Given the description of an element on the screen output the (x, y) to click on. 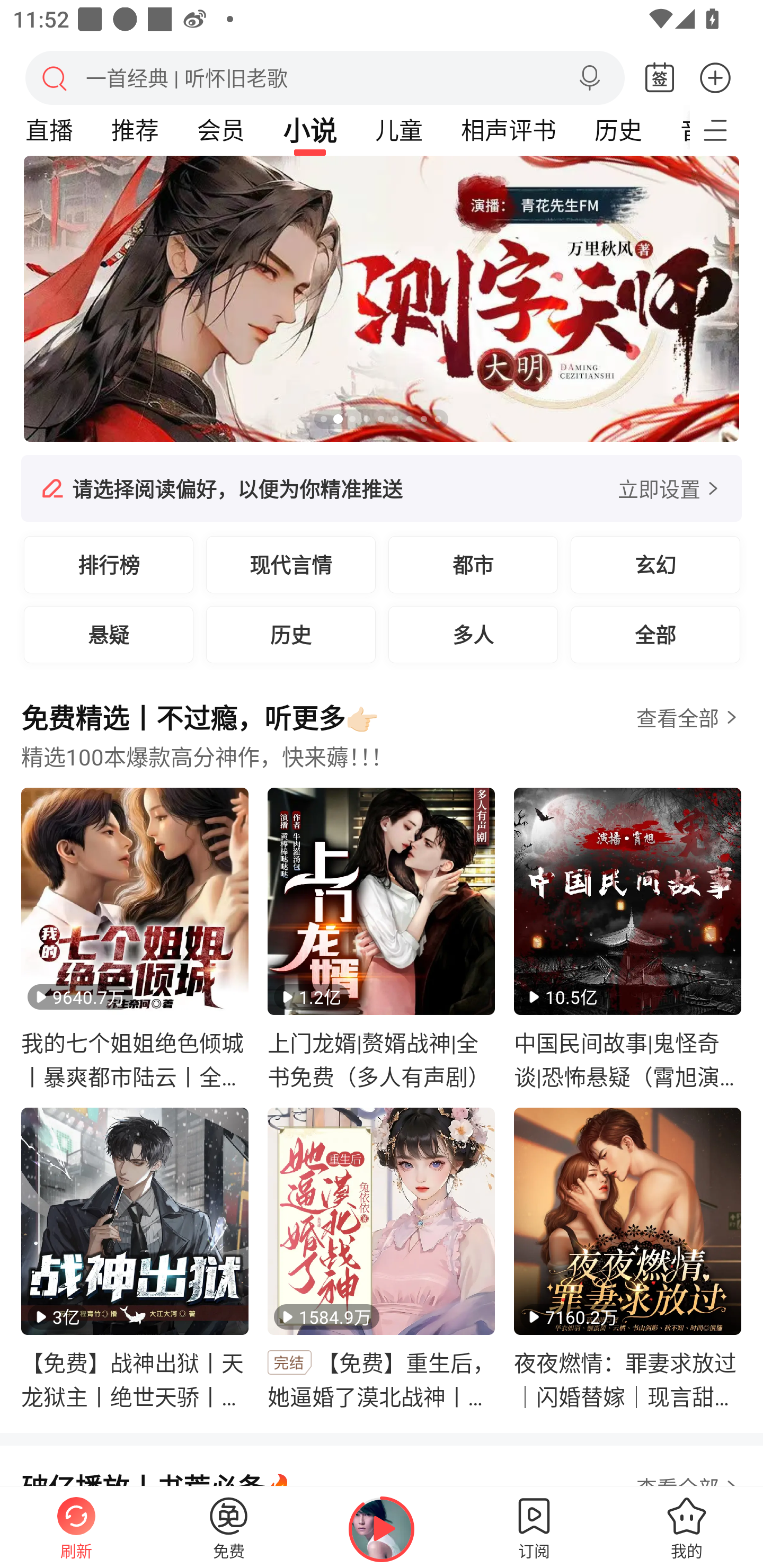
搜索 一首经典 | 听怀旧老歌 语音搜索 (324, 77)
更多 (714, 77)
签到 (659, 78)
语音搜索 (589, 78)
直播 (49, 130)
推荐 (134, 130)
会员 (220, 130)
小说 (309, 130)
儿童 (398, 130)
相声评书 (508, 130)
历史 (618, 130)
更多频道 (726, 130)
焦点图 (381, 298)
请选择阅读偏好，以便为你精准推送 立即设置 (381, 488)
排行榜 (108, 563)
现代言情 (290, 563)
都市 (473, 563)
玄幻 (655, 563)
悬疑 (108, 633)
历史 (290, 633)
多人 (473, 633)
全部 (655, 633)
免费精选丨不过瘾，听更多👉🏻 查看全部 精选100本爆款高分神作，快来薅！！！ (381, 742)
查看全部 (677, 718)
9640.7万 我的七个姐姐绝色倾城丨暴爽都市陆云丨全本免费 (134, 939)
1.2亿 上门龙婿|赘婿战神|全书免费（多人有声剧） (381, 939)
10.5亿 中国民间故事|鬼怪奇谈|恐怖悬疑（霄旭演播） (627, 939)
3亿 【免费】战神出狱丨天龙狱主丨绝世天骄丨爆款上门龙婿 (134, 1259)
1584.9万   【免费】重生后，她逼婚了漠北战神丨虐渣复仇丨情深不负丨AI多播 (381, 1259)
7160.2万 夜夜燃情：罪妻求放过｜闪婚替嫁｜现言甜宠｜全本免费 (627, 1259)
刷新 (76, 1526)
免费 (228, 1526)
订阅 (533, 1526)
我的 (686, 1526)
继续播放Alpha-橘子海OrangeOcean (381, 1529)
